Given the description of an element on the screen output the (x, y) to click on. 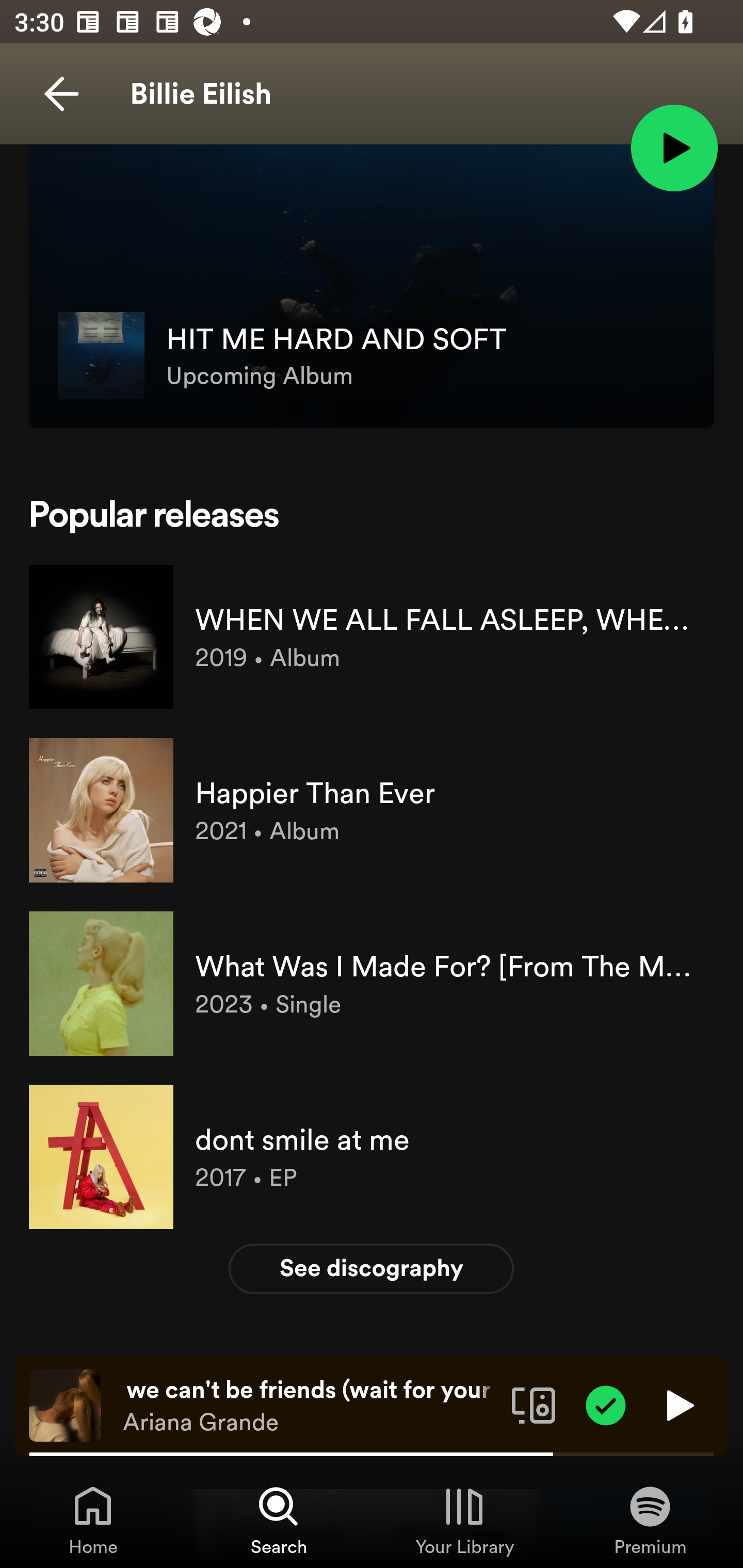
Back (60, 93)
Play artist (674, 147)
HIT ME HARD AND SOFT Upcoming Album (371, 300)
Happier Than Ever 2021 • Album (371, 810)
dont smile at me 2017 • EP (371, 1156)
See discography (371, 1268)
The cover art of the currently playing track (64, 1404)
Connect to a device. Opens the devices menu (533, 1404)
Item added (605, 1404)
Play (677, 1404)
Home, Tab 1 of 4 Home Home (92, 1519)
Search, Tab 2 of 4 Search Search (278, 1519)
Your Library, Tab 3 of 4 Your Library Your Library (464, 1519)
Premium, Tab 4 of 4 Premium Premium (650, 1519)
